Given the description of an element on the screen output the (x, y) to click on. 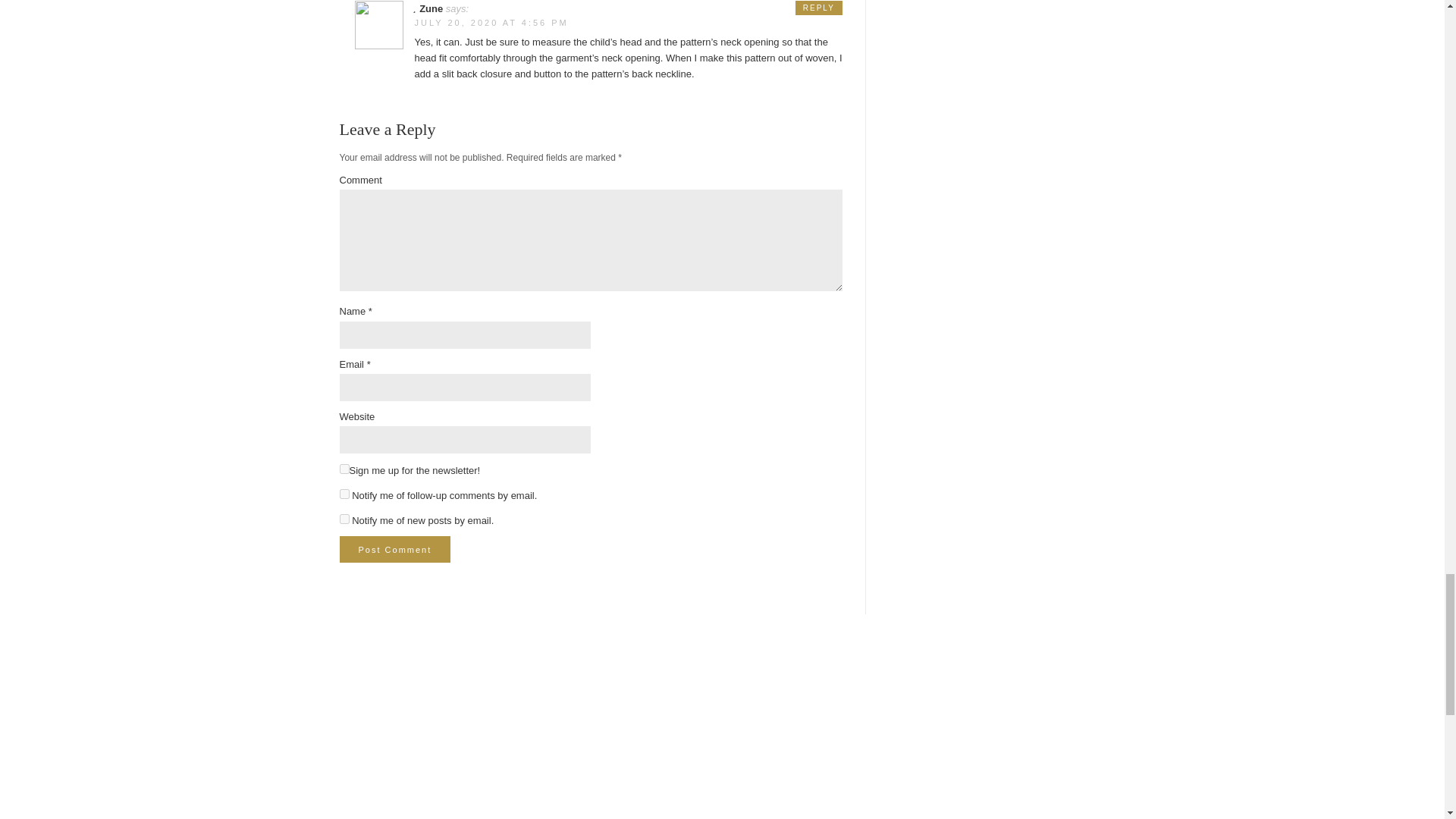
Post Comment (395, 549)
subscribe (344, 493)
1 (344, 469)
subscribe (344, 519)
